Given the description of an element on the screen output the (x, y) to click on. 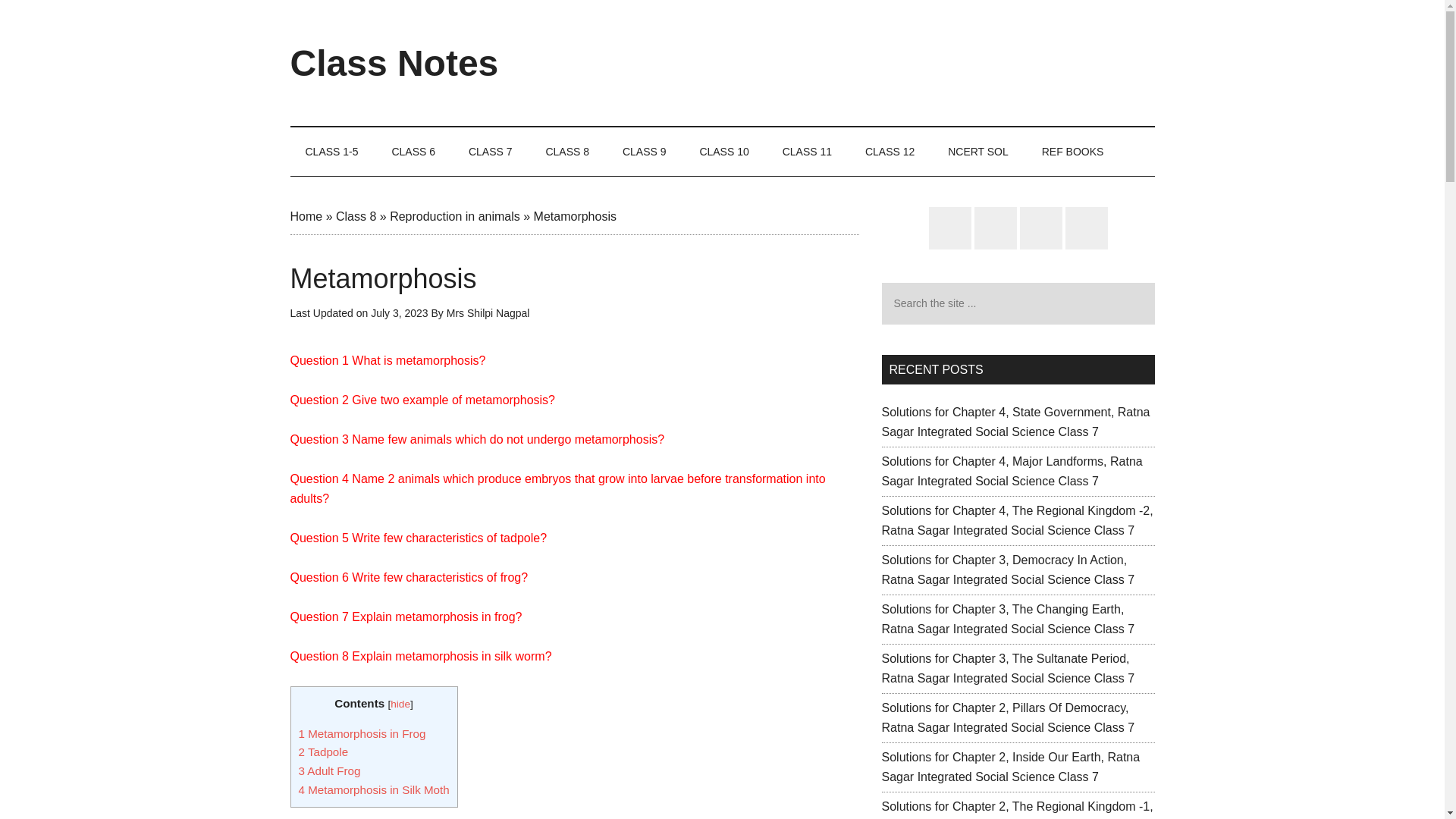
1 Metamorphosis in Frog (362, 733)
Class 8 (355, 215)
CLASS 10 (723, 151)
CLASS 7 (489, 151)
Home (305, 215)
Reproduction in animals (454, 215)
Advertisement (878, 62)
CLASS 1-5 (330, 151)
CLASS 6 (412, 151)
